Given the description of an element on the screen output the (x, y) to click on. 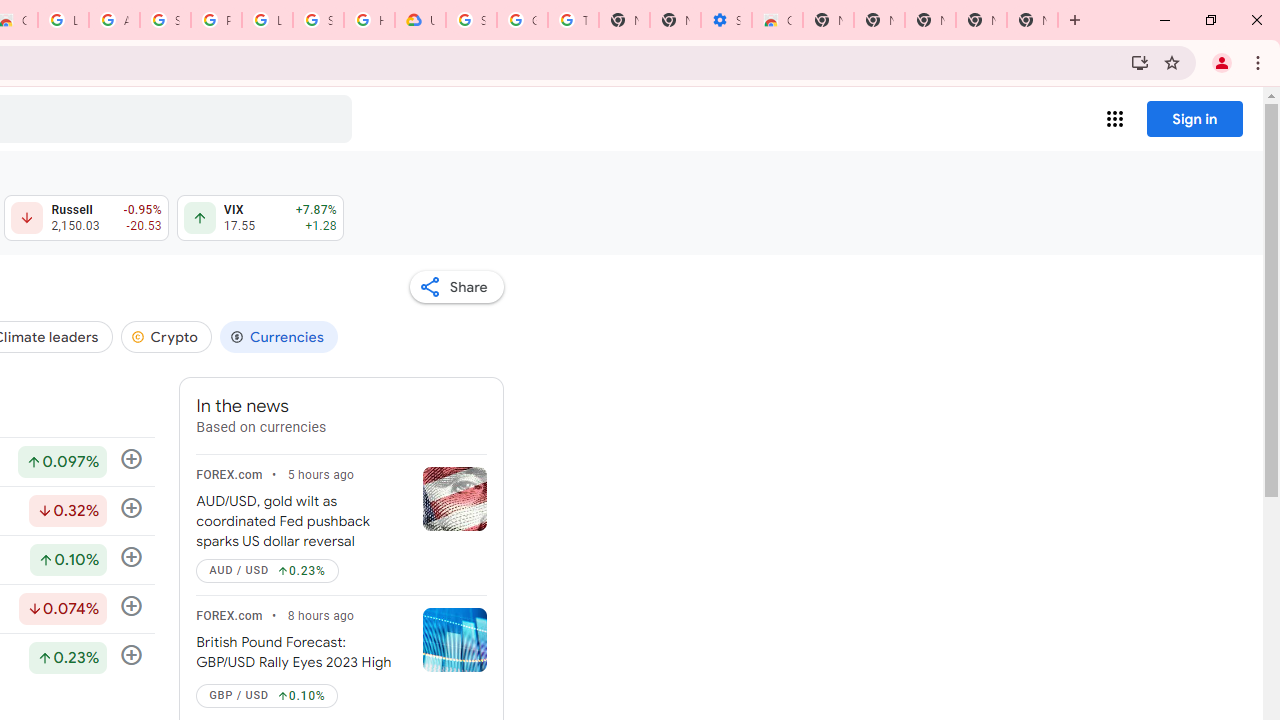
Install Google Finance (1139, 62)
Currencies (278, 336)
Share (456, 286)
Sign in - Google Accounts (164, 20)
Google apps (1114, 118)
Sign in - Google Accounts (470, 20)
Settings - Accessibility (726, 20)
VIX 17.55 Up by 7.87% +1.28 (260, 218)
Google Account Help (521, 20)
